Given the description of an element on the screen output the (x, y) to click on. 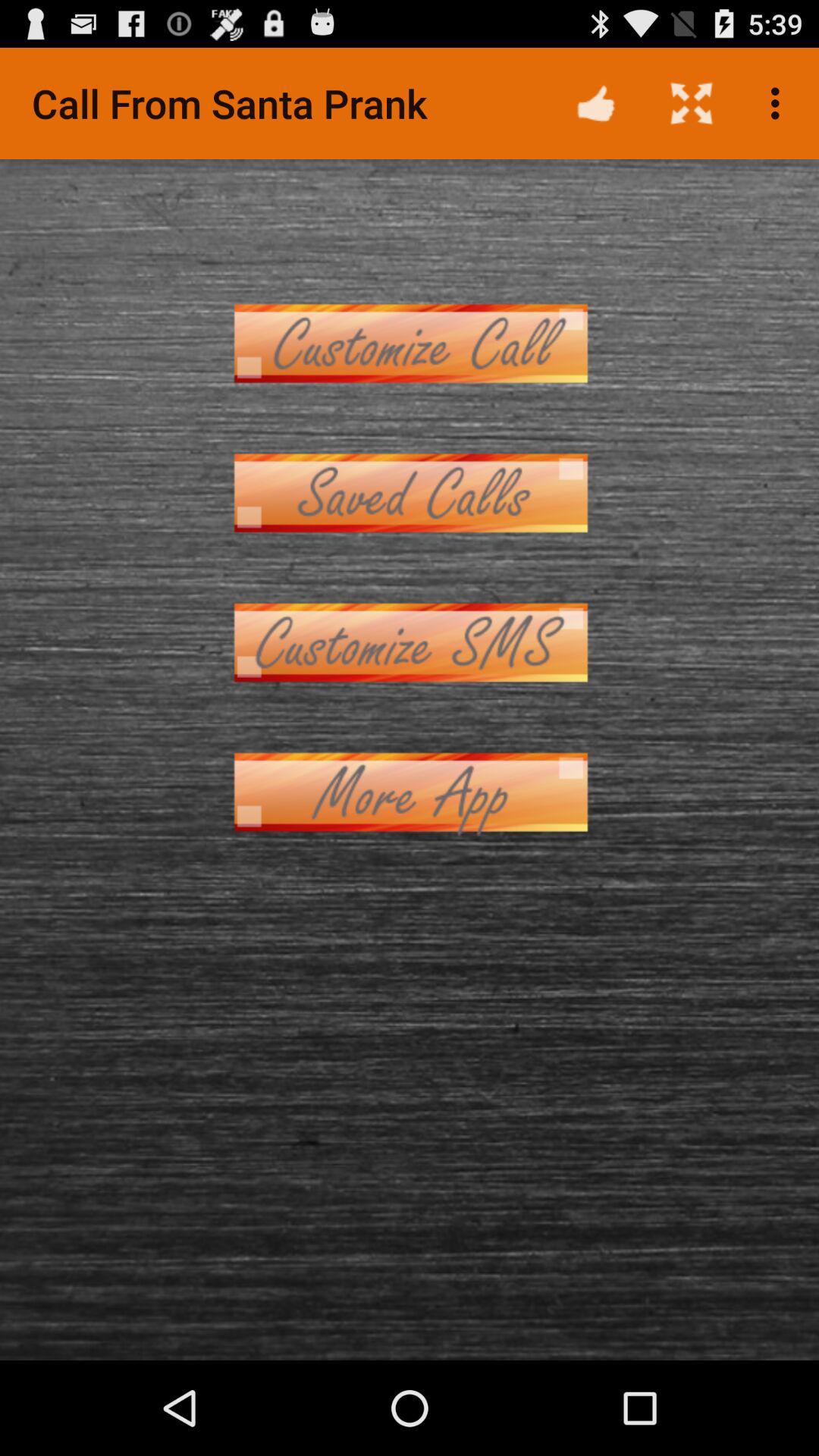
send custom sms (409, 642)
